Given the description of an element on the screen output the (x, y) to click on. 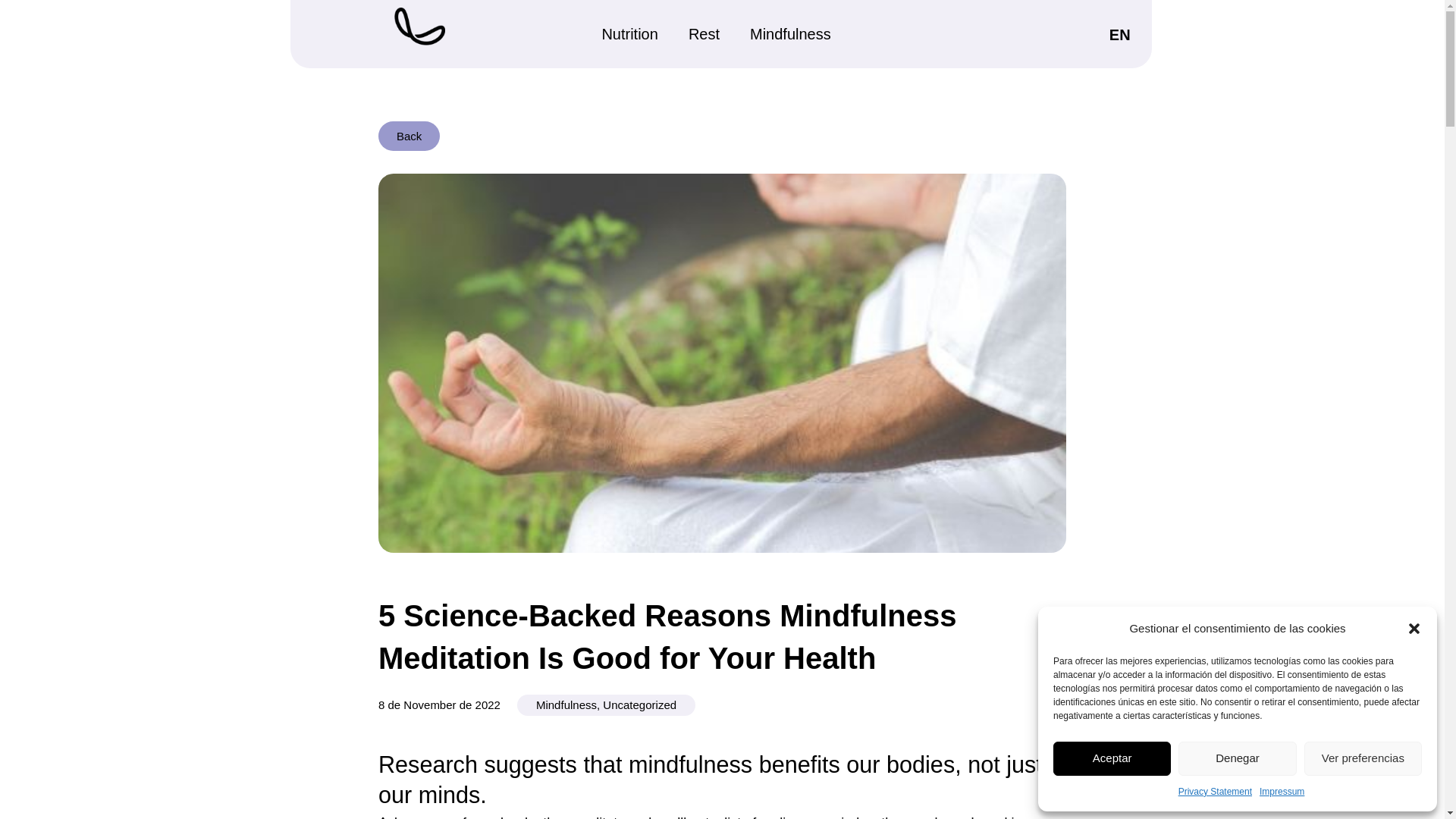
Ver preferencias (1363, 758)
Rest (703, 33)
Back (408, 135)
Aceptar (1111, 758)
Privacy Statement (1214, 791)
Impressum (1281, 791)
Denegar (1236, 758)
Uncategorized (639, 704)
Mindfulness (790, 33)
Mindfulness (565, 704)
